Given the description of an element on the screen output the (x, y) to click on. 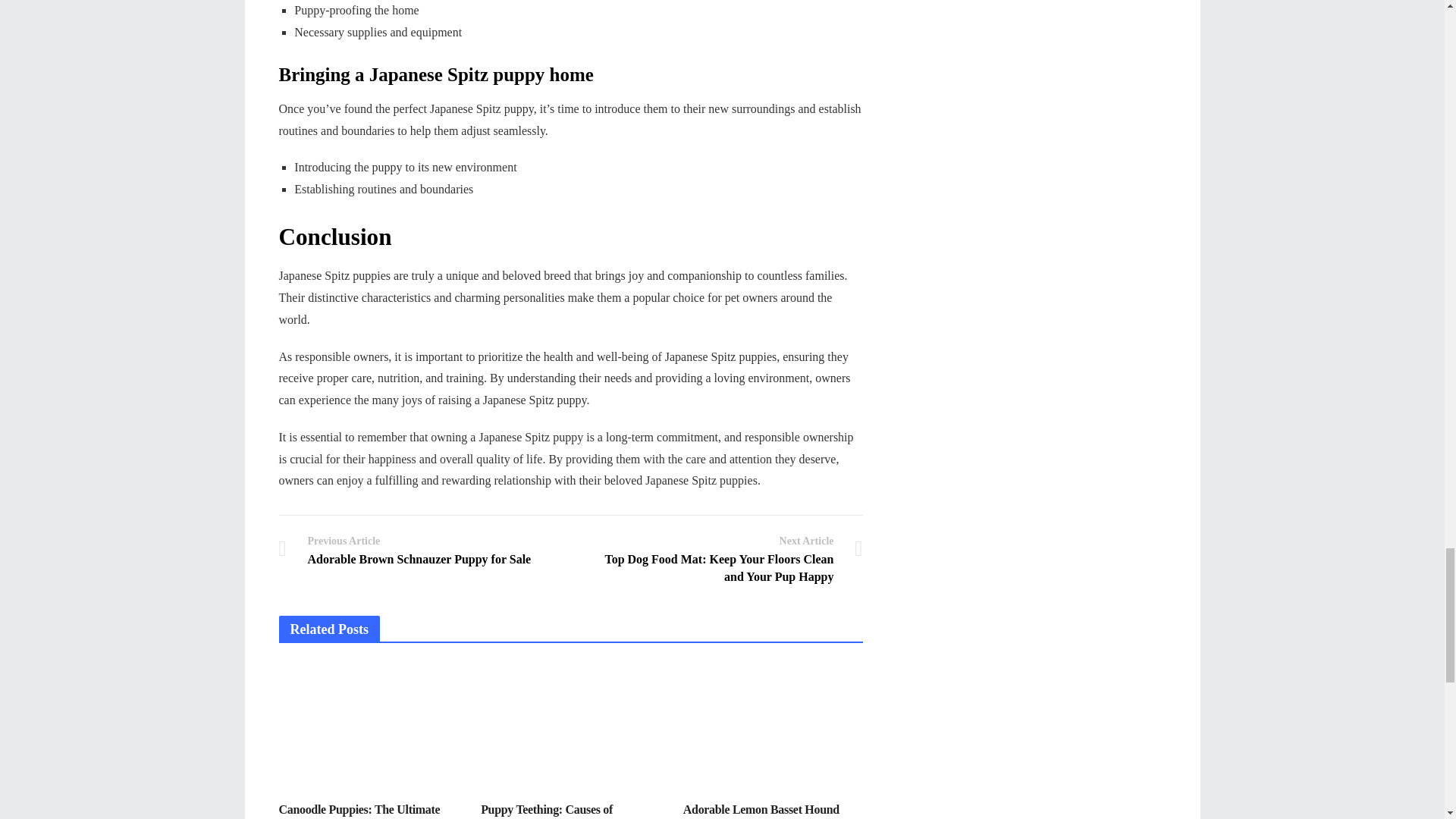
Canoodle Puppies: The Ultimate Guide (419, 549)
Adorable Lemon Basset Hound Puppies for Sale (368, 725)
Puppy Teething: Causes of Diarrhea and Solutions (761, 811)
Canoodle Puppies: The Ultimate Guide (546, 811)
Puppy Teething: Causes of Diarrhea and Solutions (360, 811)
Adorable Lemon Basset Hound Puppies for Sale (546, 811)
Canoodle Puppies: The Ultimate Guide (761, 811)
Puppy Teething: Causes of Diarrhea and Solutions (360, 811)
